Given the description of an element on the screen output the (x, y) to click on. 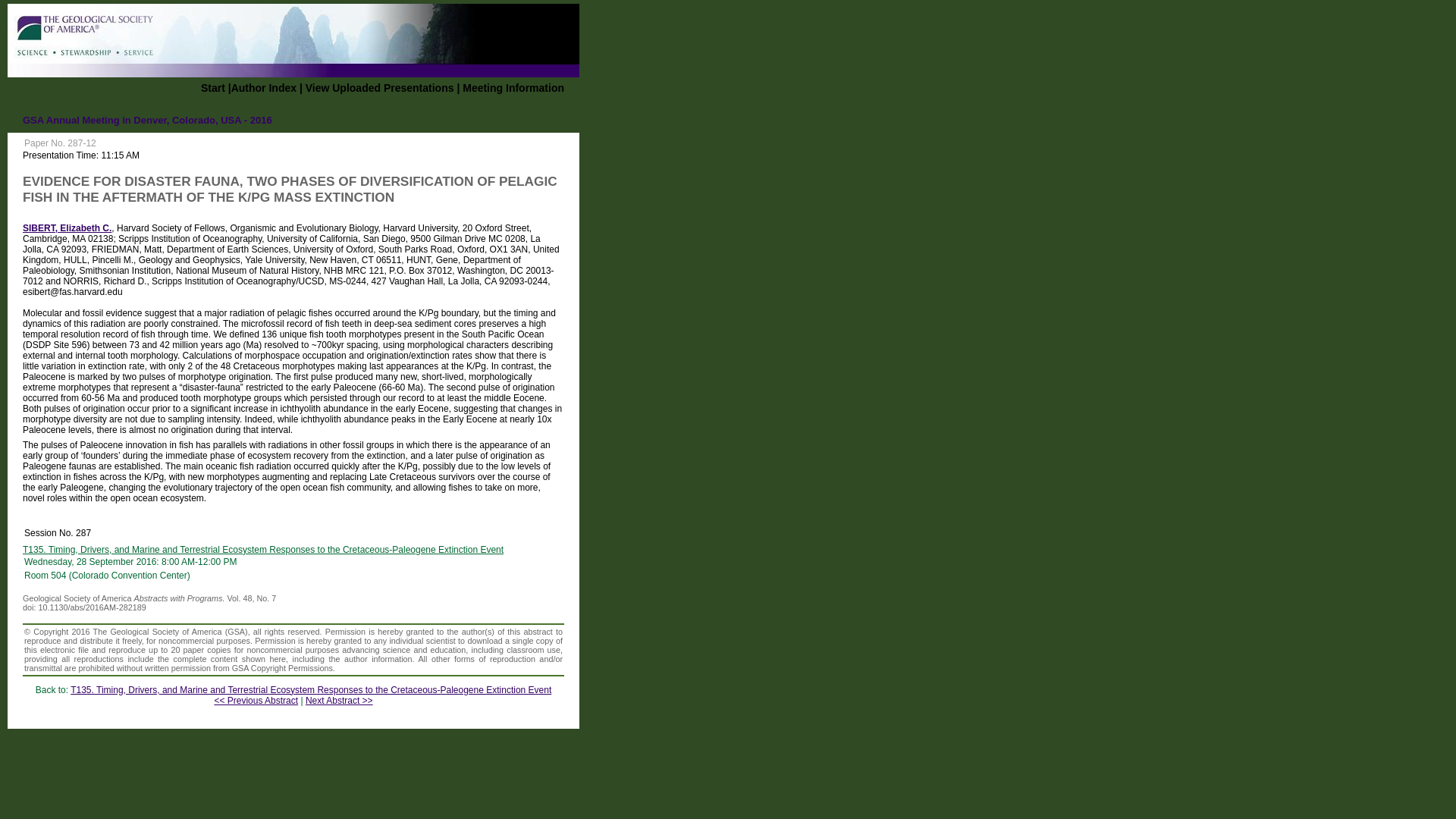
Author Index (264, 87)
Start (212, 87)
SIBERT, Elizabeth C. (67, 227)
View Uploaded Presentations (379, 87)
Meeting Information (513, 87)
